Given the description of an element on the screen output the (x, y) to click on. 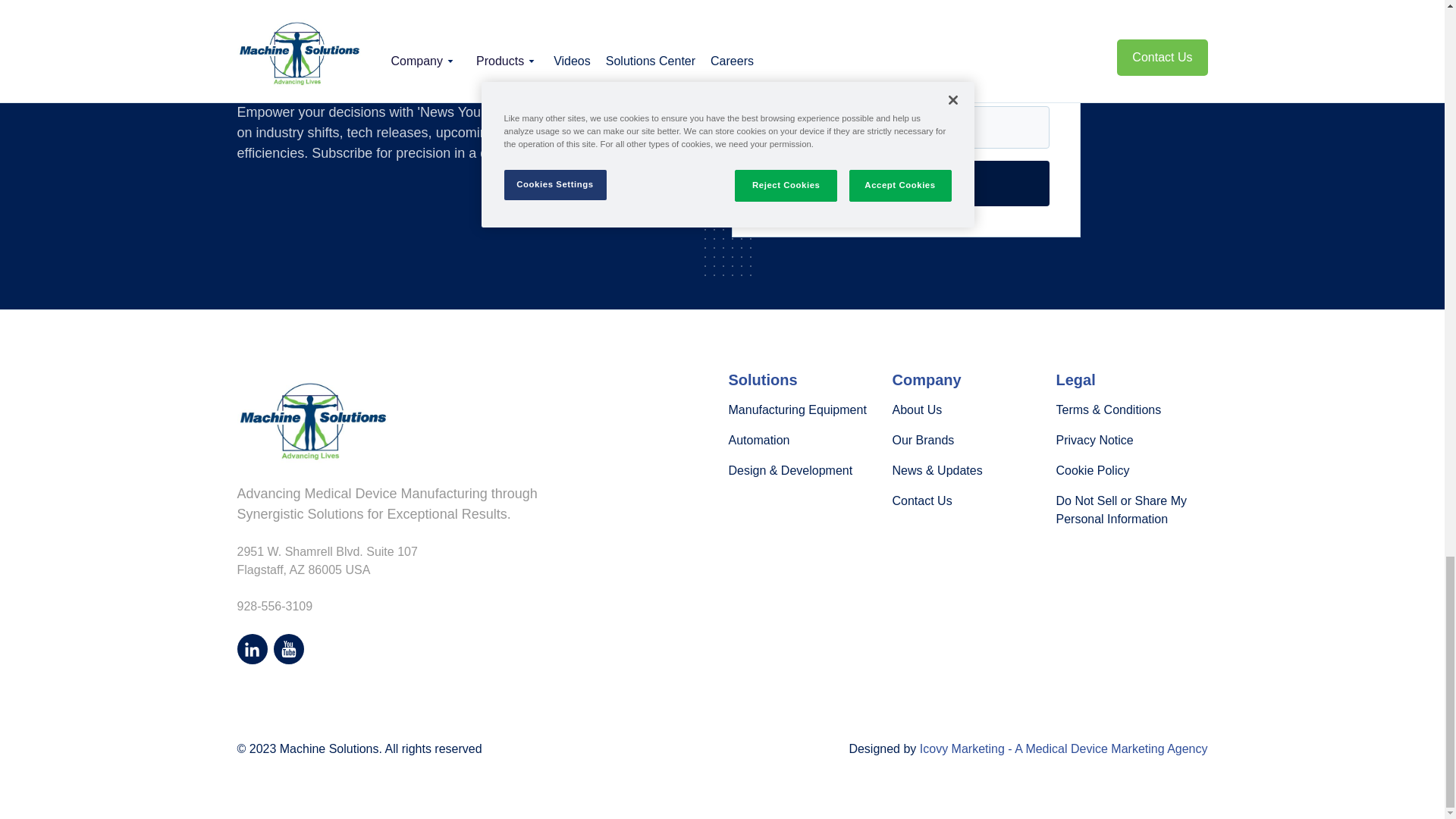
Submit (905, 183)
